Given the description of an element on the screen output the (x, y) to click on. 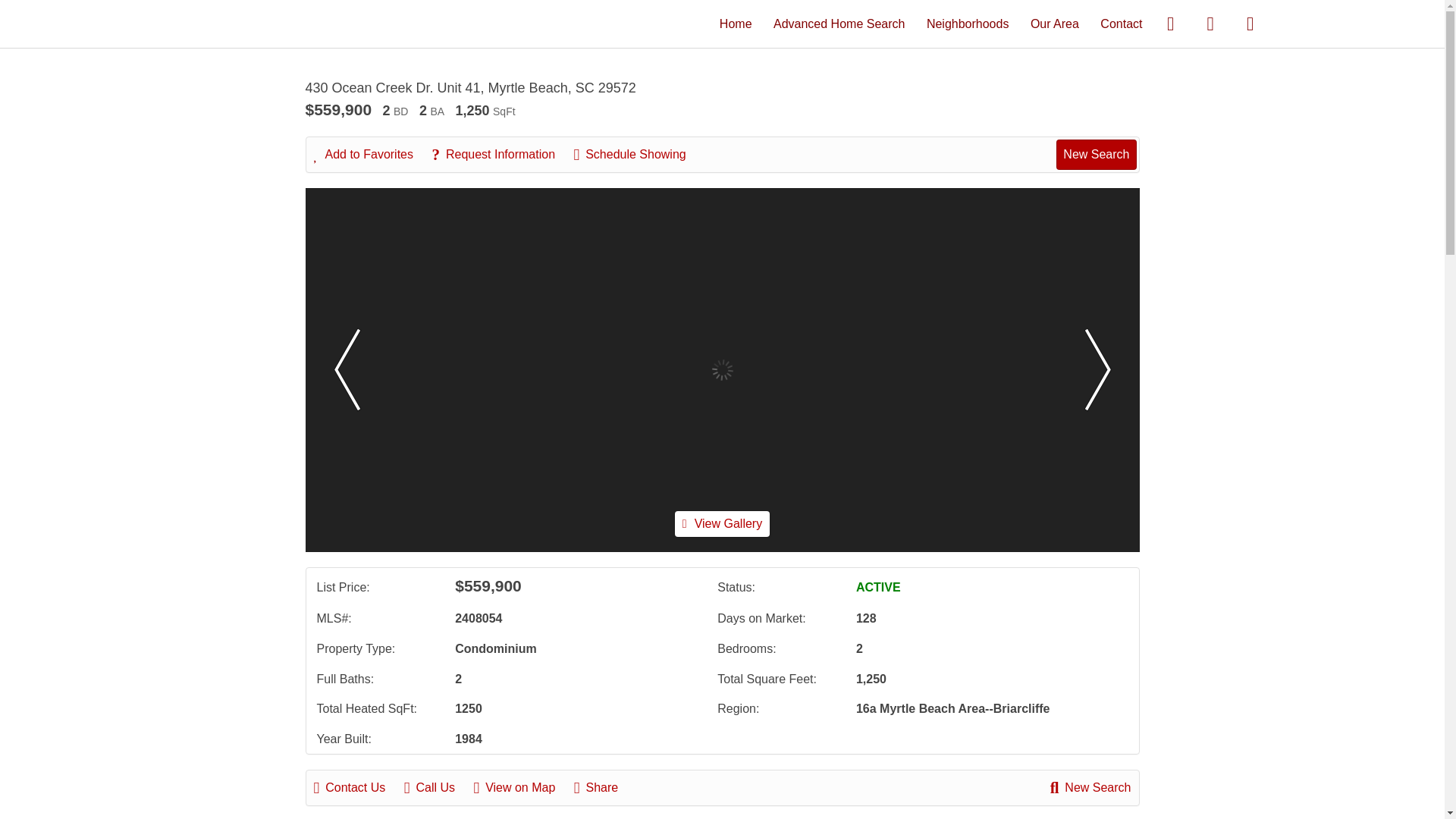
View Gallery (722, 522)
New Search (1096, 154)
Contact (1120, 23)
View on Map (521, 787)
Advanced Home Search (838, 23)
Call Us (437, 787)
View Gallery (722, 524)
Our Area (1054, 23)
Schedule Showing (636, 154)
Contact Us (357, 787)
Share (603, 787)
Add to Favorites (371, 154)
New Search (1090, 787)
Request Information (500, 154)
Home (735, 23)
